Given the description of an element on the screen output the (x, y) to click on. 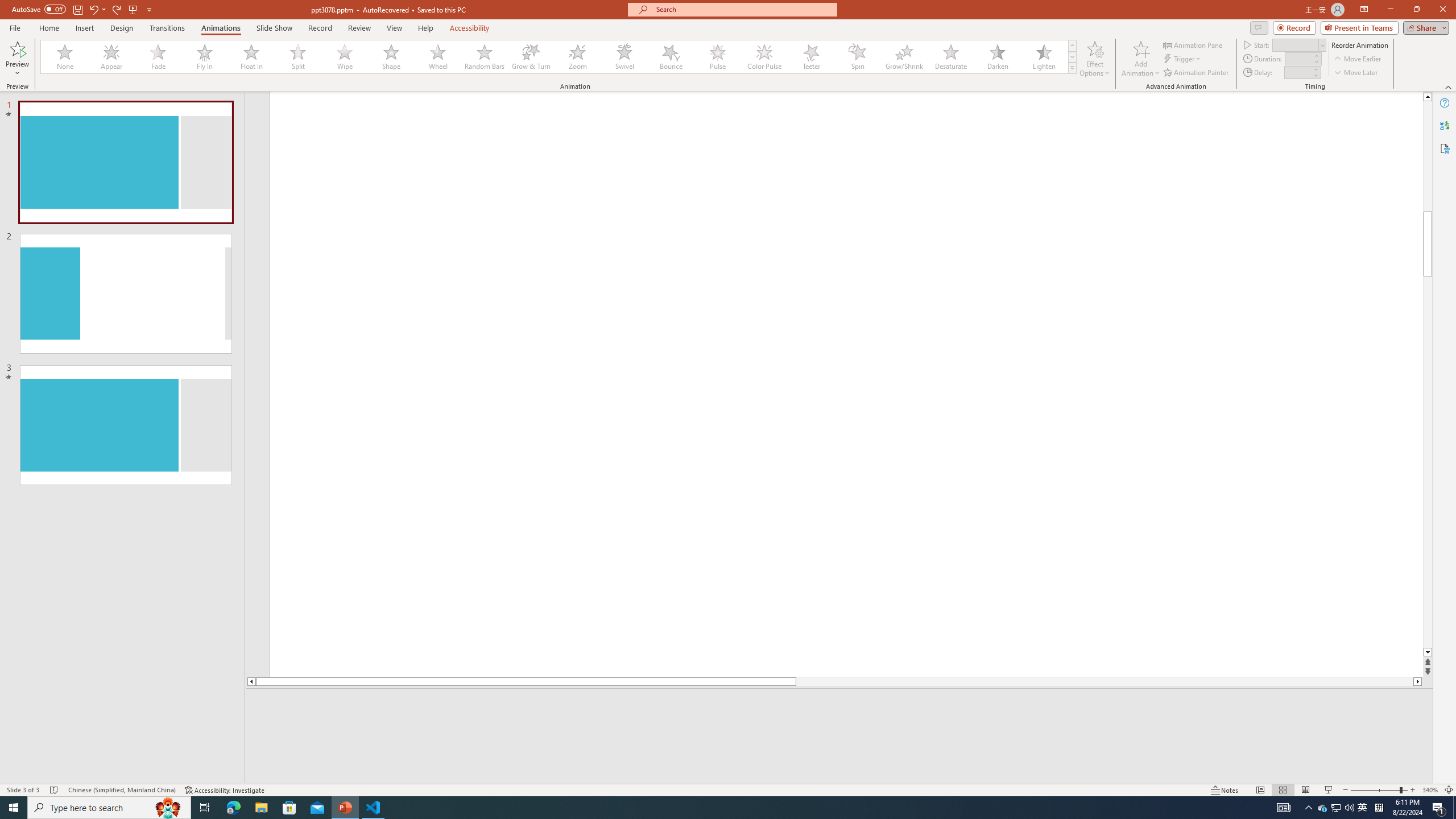
Add Animation (1141, 58)
Appear (111, 56)
Split (298, 56)
Move Later (1355, 72)
